Given the description of an element on the screen output the (x, y) to click on. 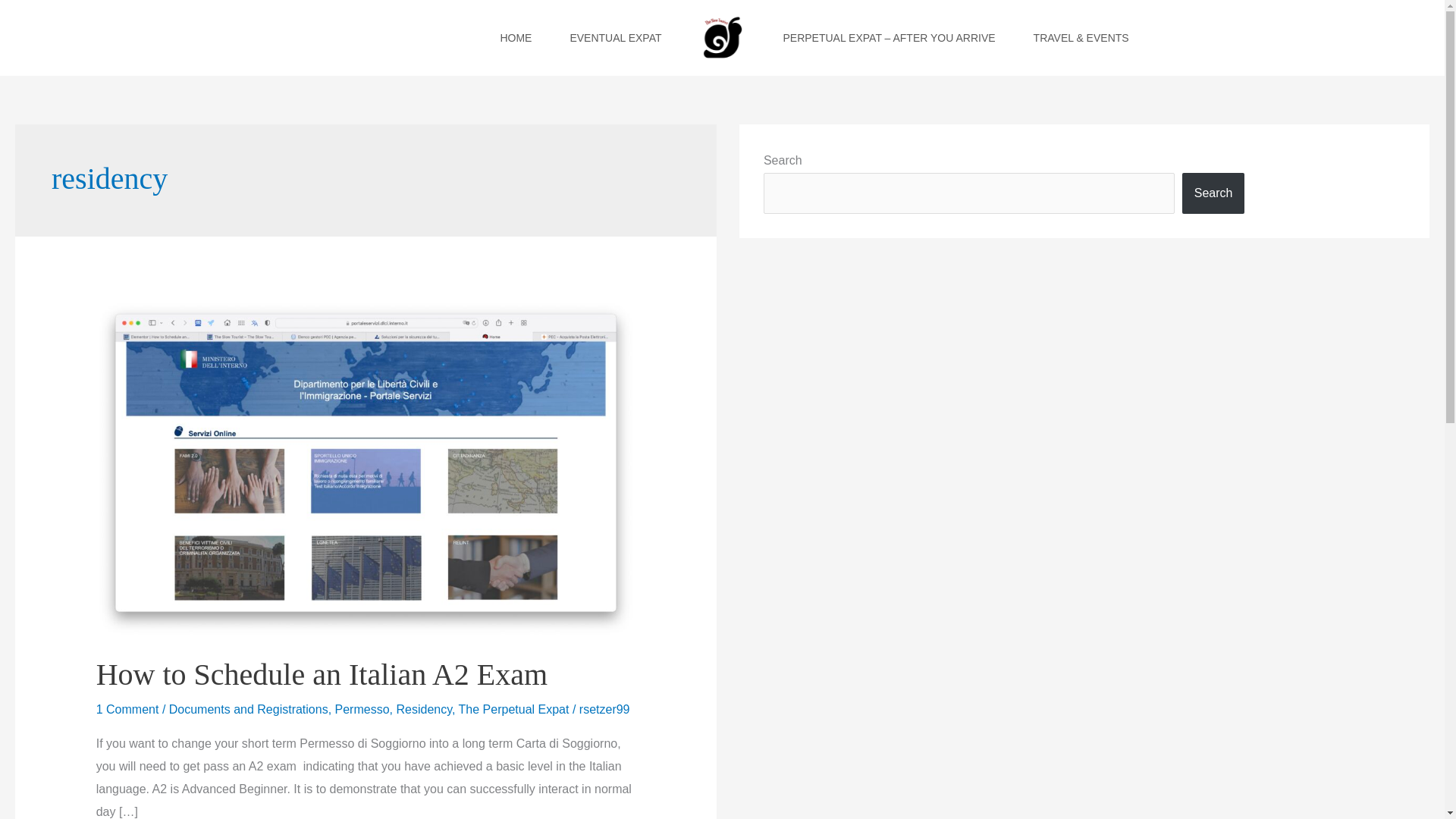
View all posts by rsetzer99 (604, 708)
Documents and Registrations (248, 708)
rsetzer99 (604, 708)
EVENTUAL EXPAT (615, 37)
Permesso (362, 708)
HOME (515, 37)
The Perpetual Expat (513, 708)
How to Schedule an Italian A2 Exam (321, 674)
Residency (423, 708)
1 Comment (127, 708)
